Given the description of an element on the screen output the (x, y) to click on. 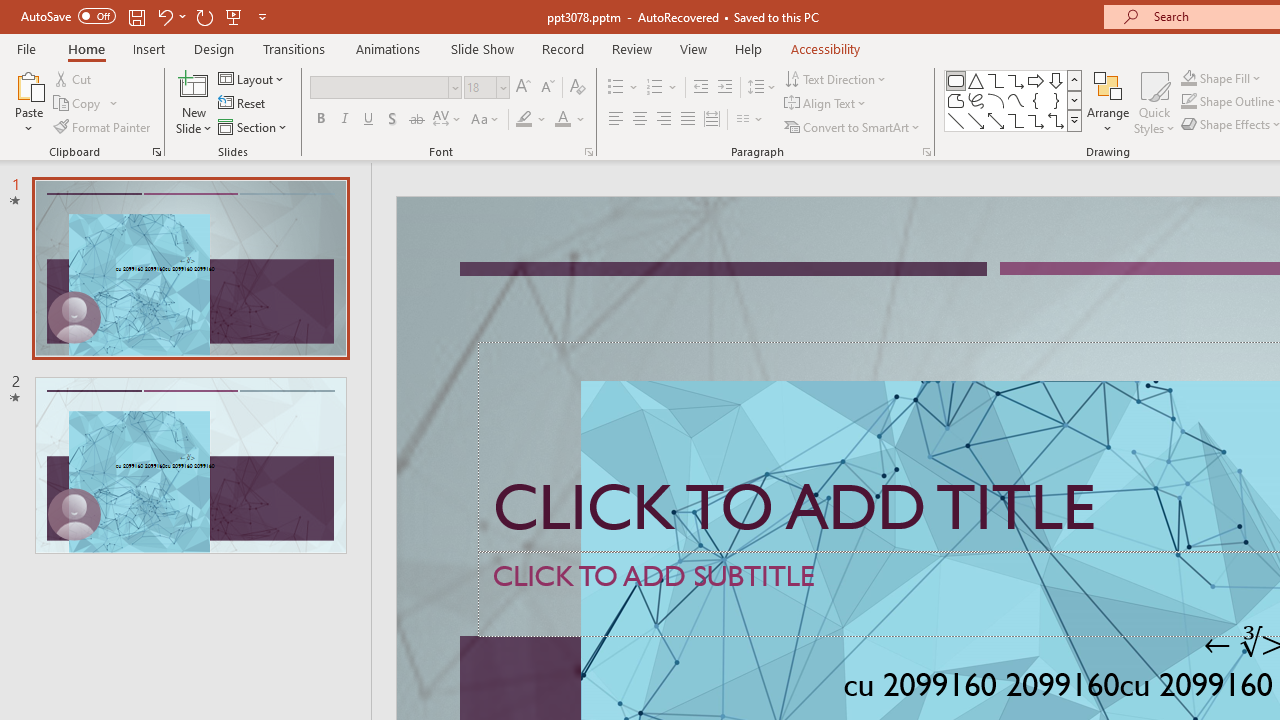
Connector: Elbow Double-Arrow (1055, 120)
